Given the description of an element on the screen output the (x, y) to click on. 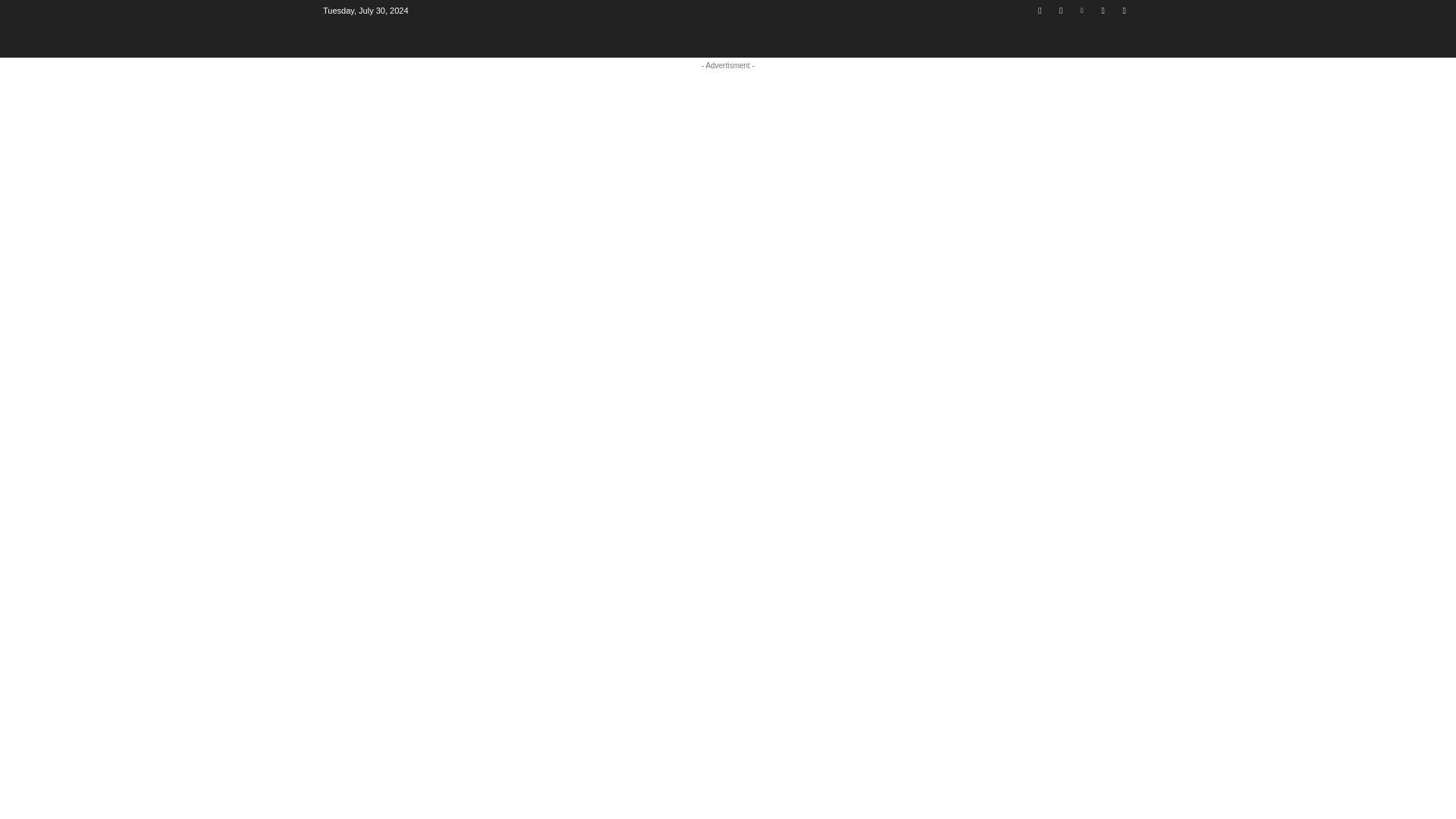
Rss (1103, 9)
Linkedin (1082, 9)
Twitter (1123, 9)
Facebook (1039, 9)
Youtube (1061, 9)
